Given the description of an element on the screen output the (x, y) to click on. 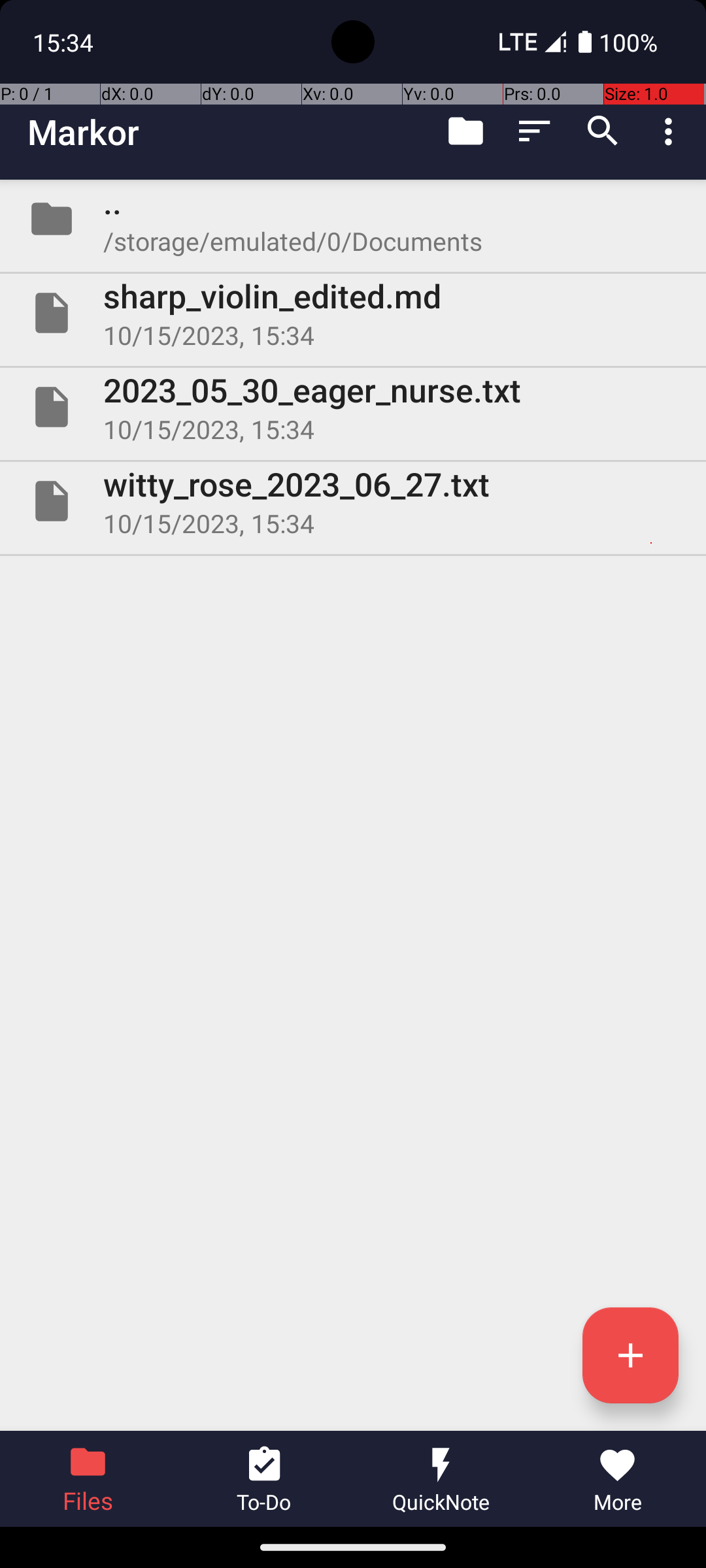
File sharp_violin_edited.md 10/15/2023, 15:34 Element type: android.widget.LinearLayout (353, 312)
File 2023_05_30_eager_nurse.txt 10/15/2023, 15:34 Element type: android.widget.LinearLayout (353, 406)
File witty_rose_2023_06_27.txt 10/15/2023, 15:34 Element type: android.widget.LinearLayout (353, 500)
